Given the description of an element on the screen output the (x, y) to click on. 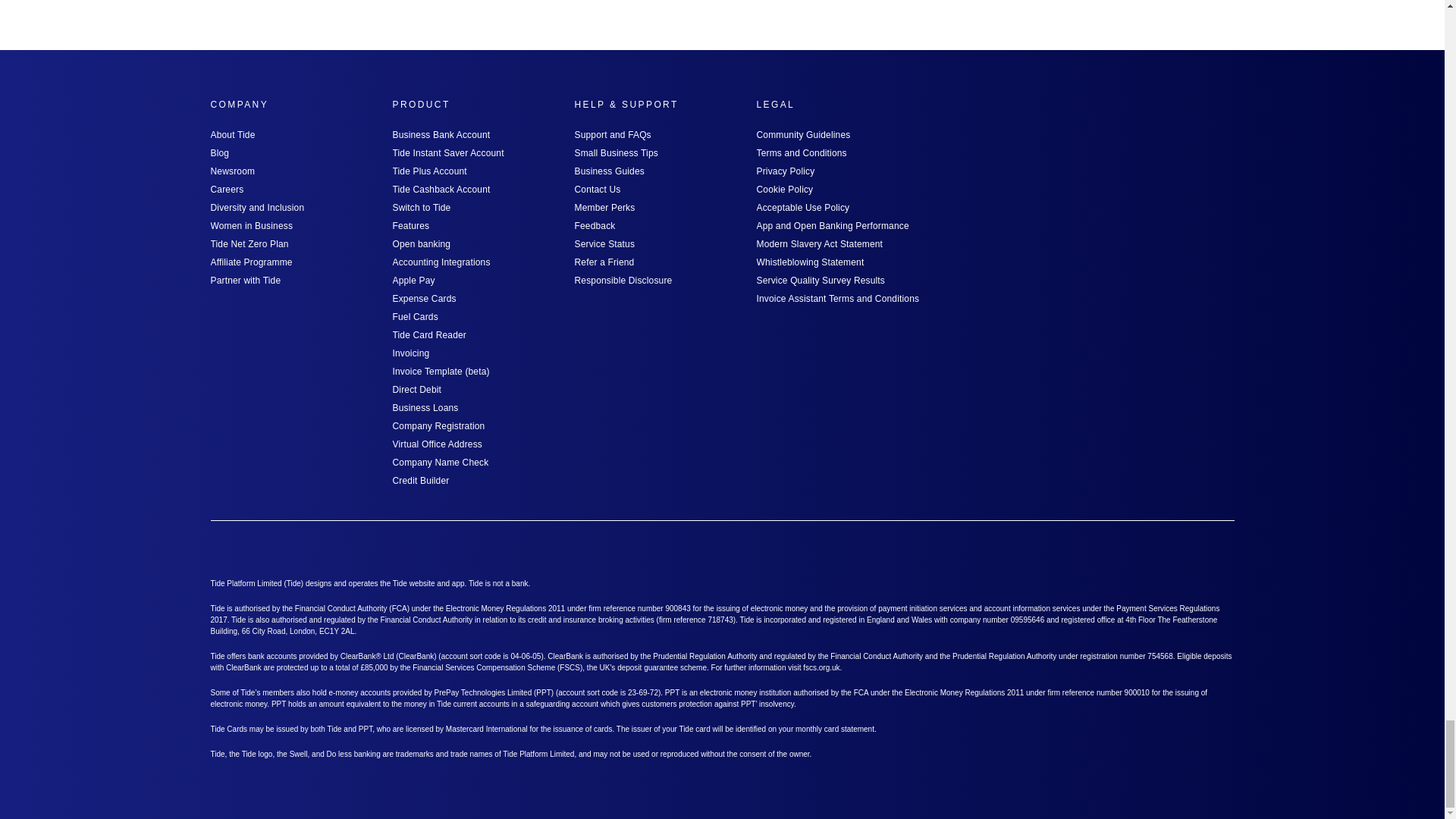
Follow Tide on TiktTok (1222, 549)
Follow Tide on Twitter (1019, 549)
Follow Tide on Facebook (1141, 549)
Follow Tide on Instagram (1100, 549)
Follow Tide on LinkedIn (1060, 549)
Follow Tide on YouTube (1181, 549)
